Given the description of an element on the screen output the (x, y) to click on. 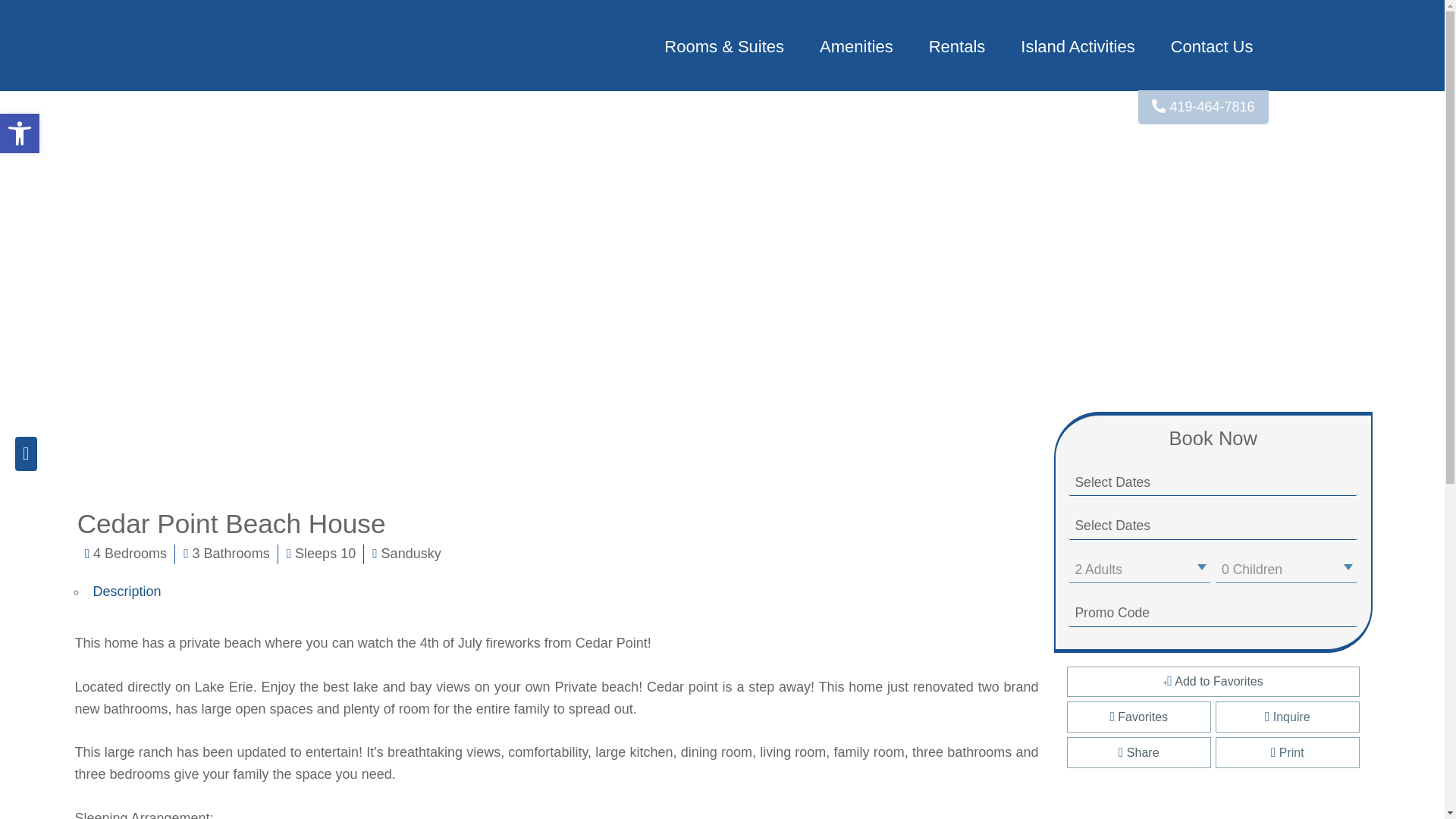
Island Activities (1078, 46)
Accessibility Tools (19, 133)
Amenities (856, 46)
Accessibility Tools (19, 133)
419-464-7816 (1203, 107)
Contact Us (1212, 46)
Rentals (957, 46)
